Given the description of an element on the screen output the (x, y) to click on. 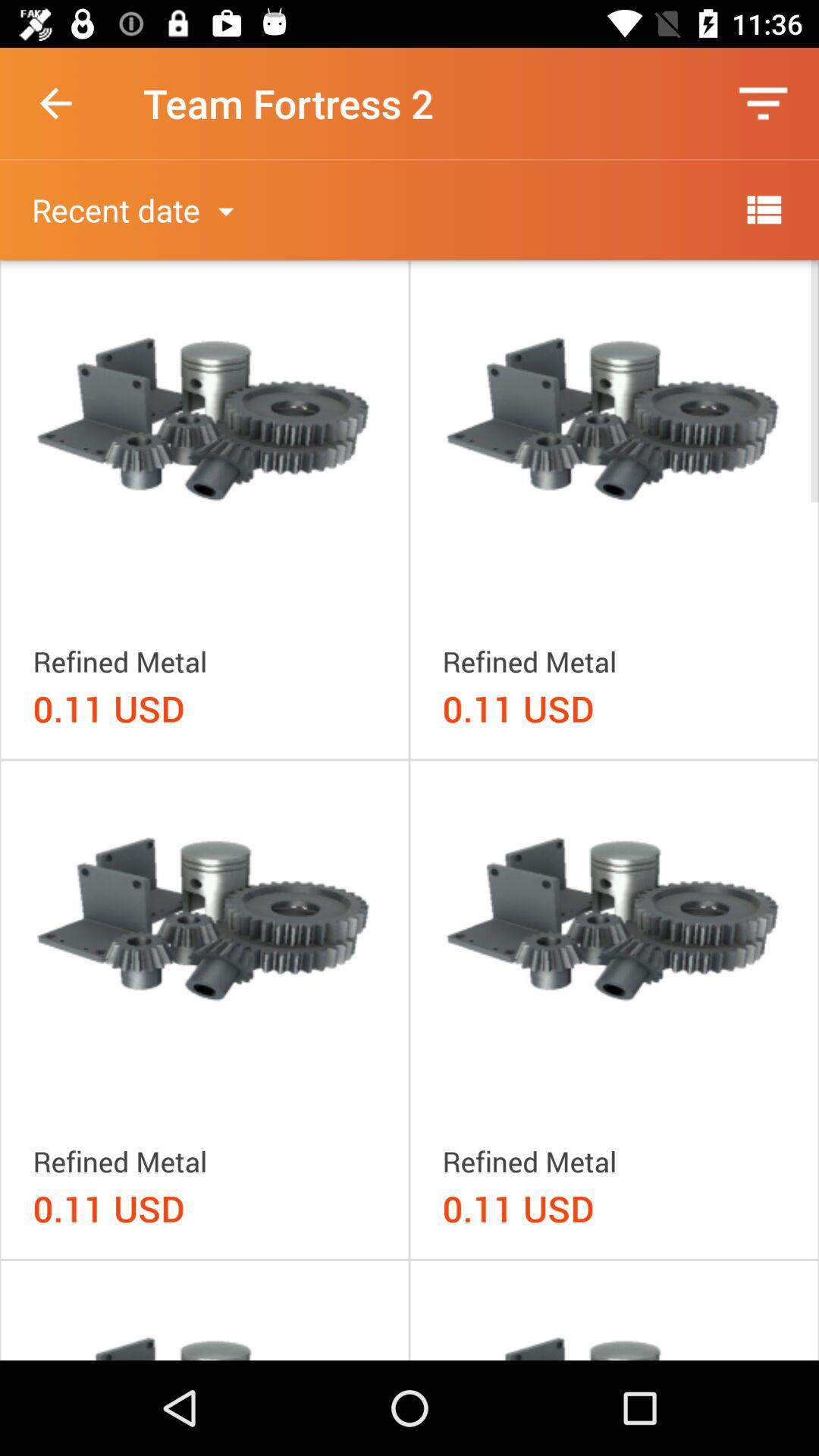
open the item next to team fortress 2 (55, 103)
